Given the description of an element on the screen output the (x, y) to click on. 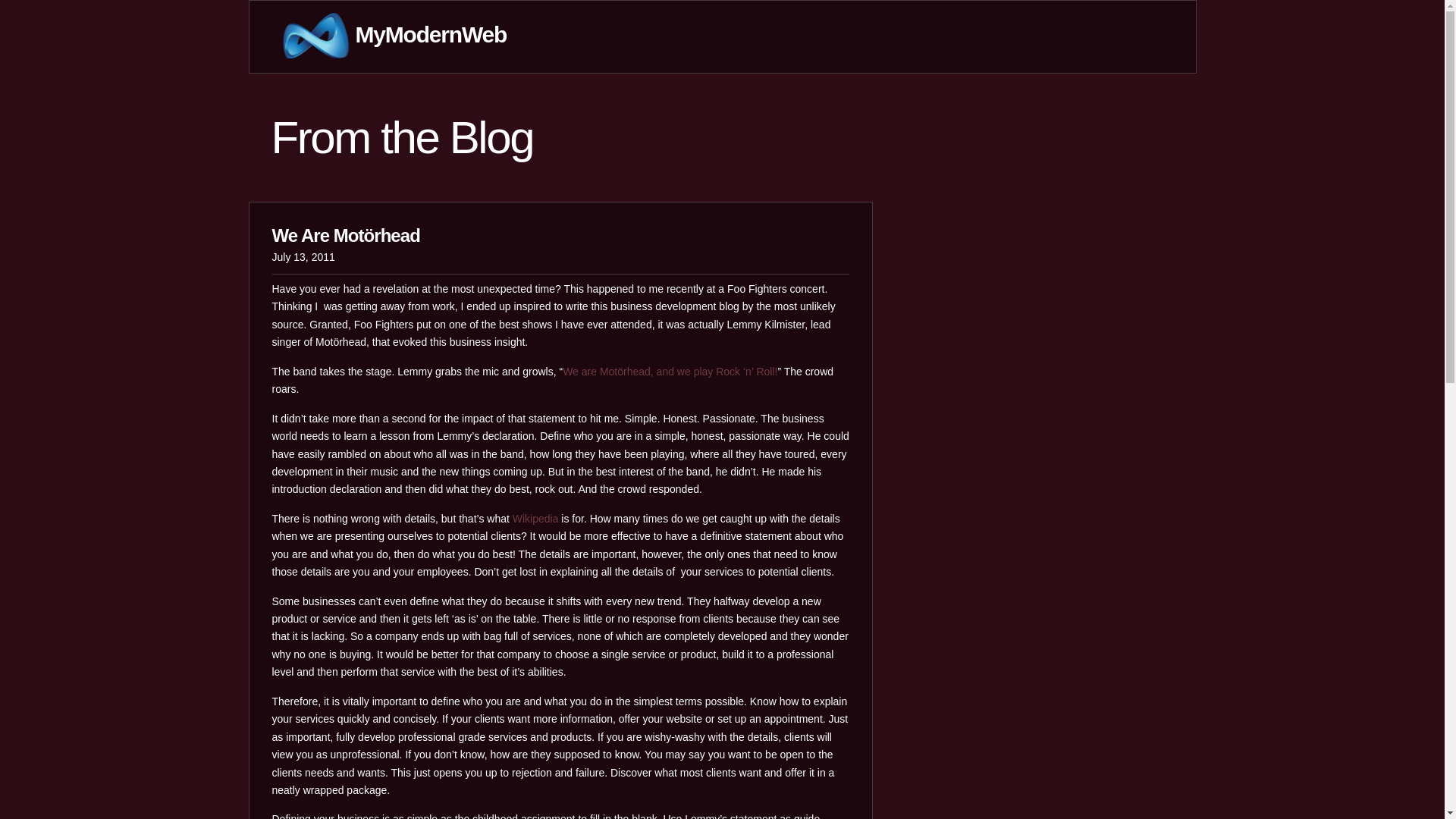
Wikipedia (535, 518)
MyModernWeb (388, 34)
